Given the description of an element on the screen output the (x, y) to click on. 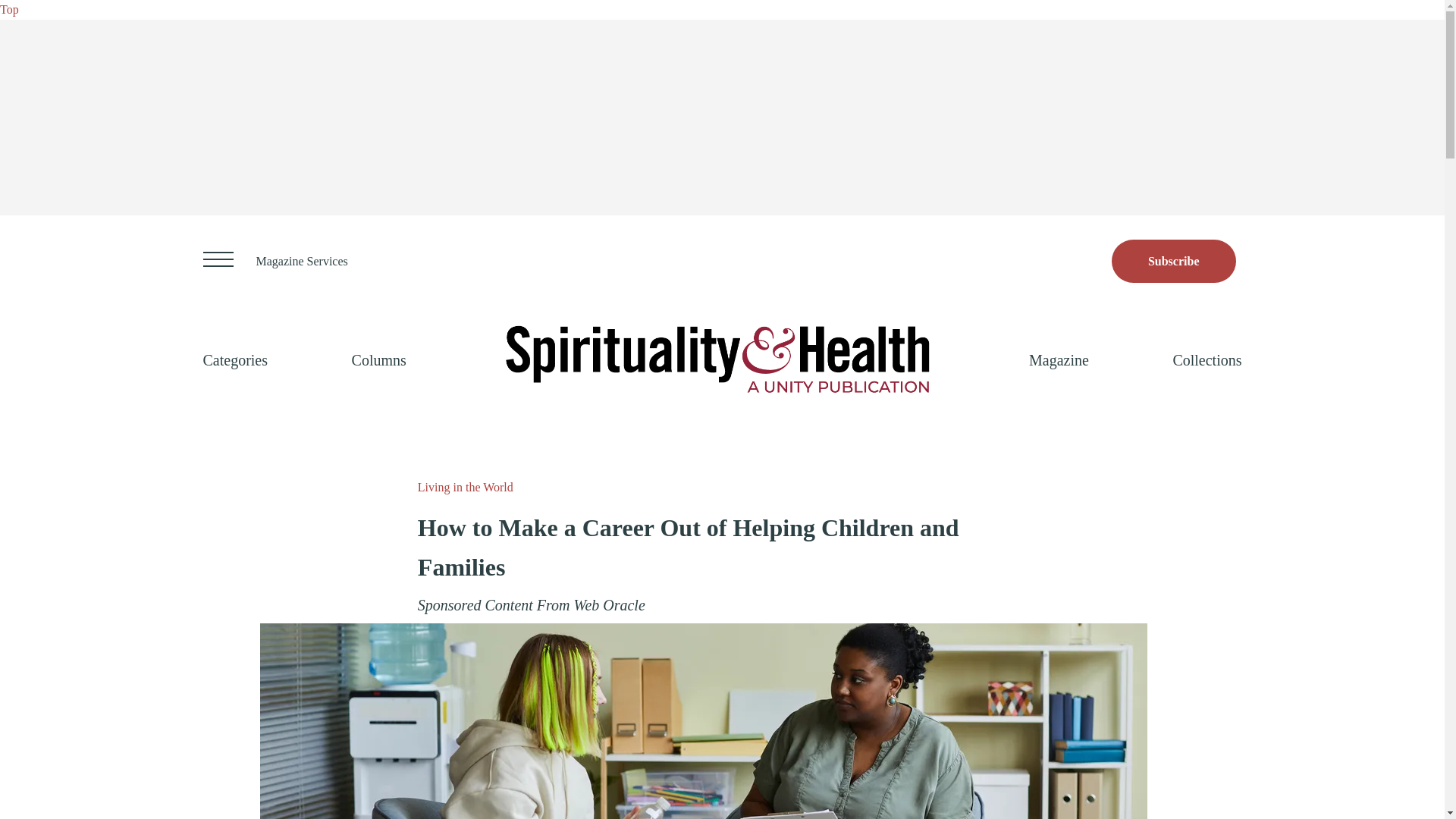
Subscribe (1174, 261)
Collections (1206, 359)
Columns (379, 359)
Magazine (1059, 359)
Magazine Services (301, 260)
Categories (235, 359)
Opens to Store site (1174, 261)
Top (9, 9)
